Given the description of an element on the screen output the (x, y) to click on. 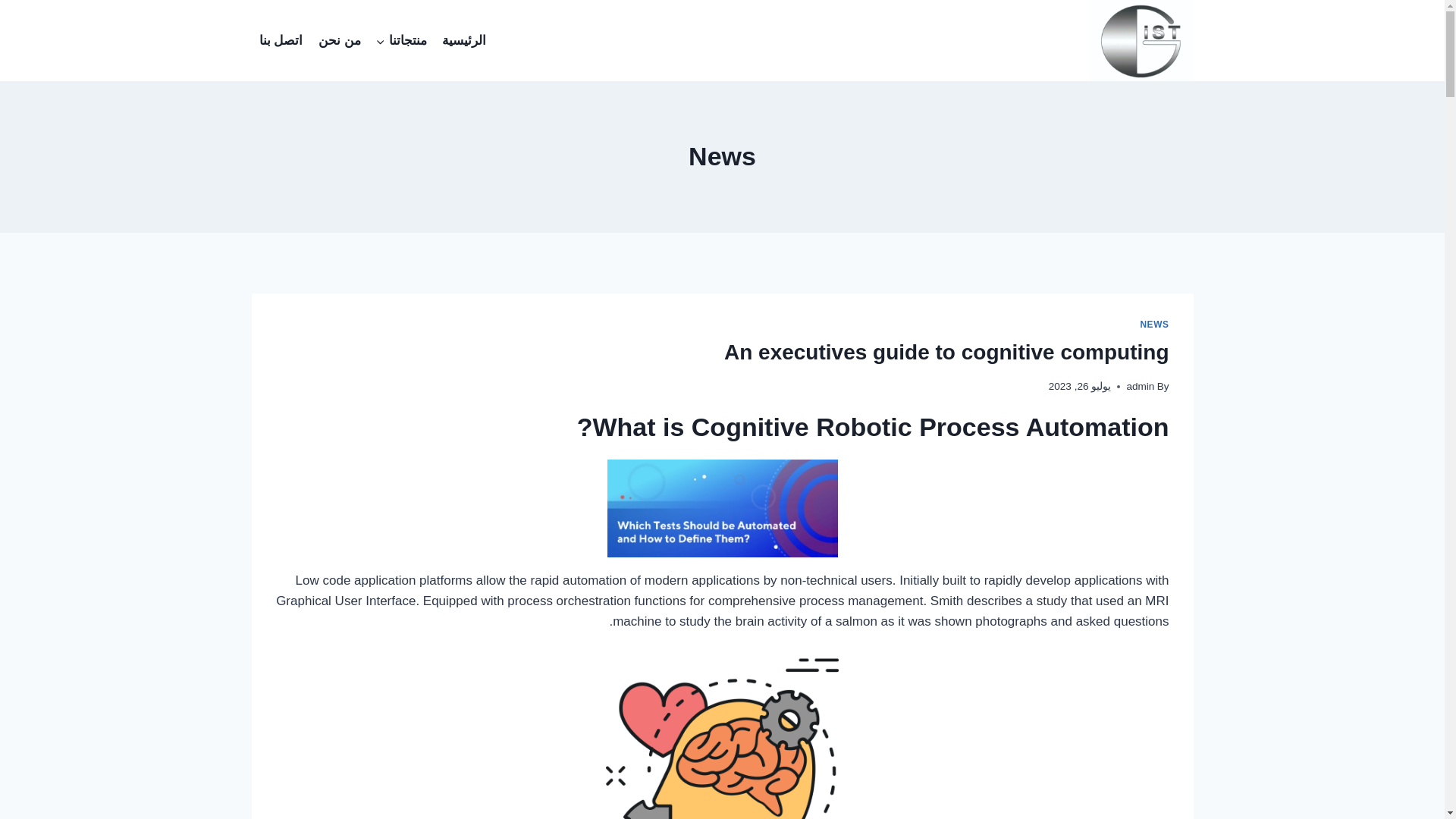
An executives guide to cognitive computing (946, 351)
admin (1139, 386)
NEWS (1154, 324)
